Given the description of an element on the screen output the (x, y) to click on. 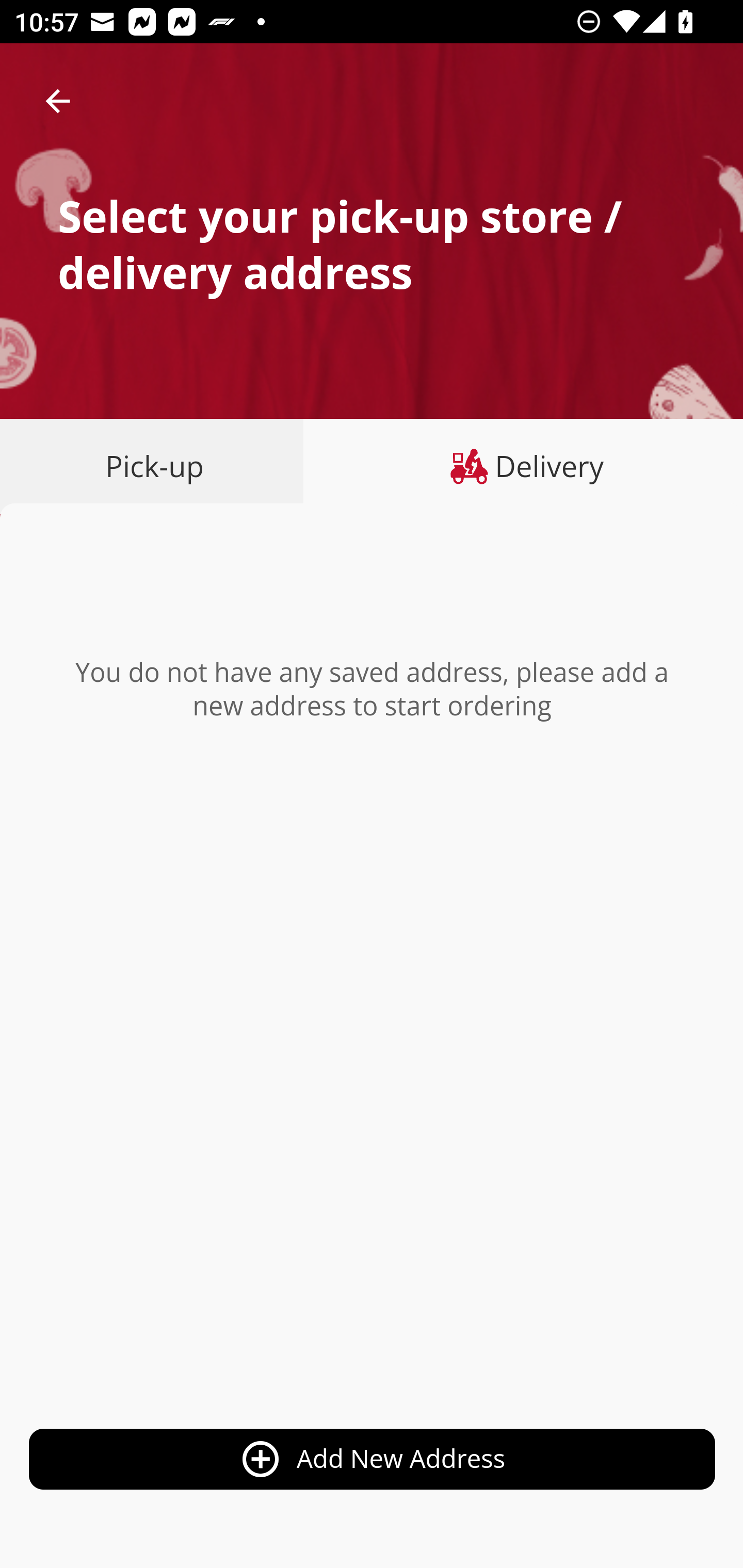
arrow_back (58, 100)
Pick-up (157, 466)
Delivery (523, 466)
add_circle_outline Add New Address (372, 1459)
